Given the description of an element on the screen output the (x, y) to click on. 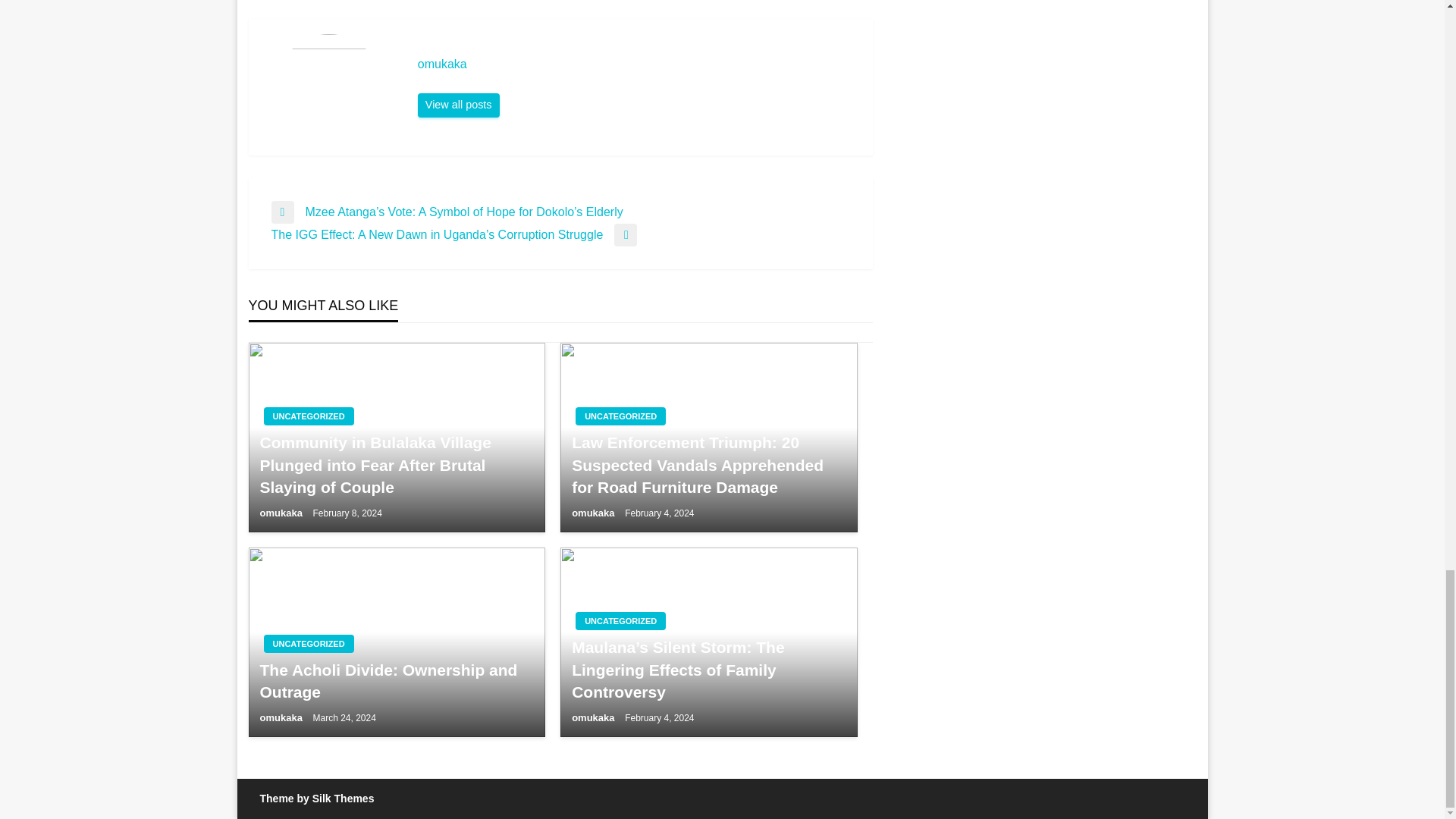
omukaka (281, 717)
omukaka (637, 64)
omukaka (458, 105)
omukaka (637, 64)
omukaka (281, 512)
UNCATEGORIZED (620, 620)
View all posts (458, 105)
UNCATEGORIZED (308, 416)
omukaka (594, 512)
